Given the description of an element on the screen output the (x, y) to click on. 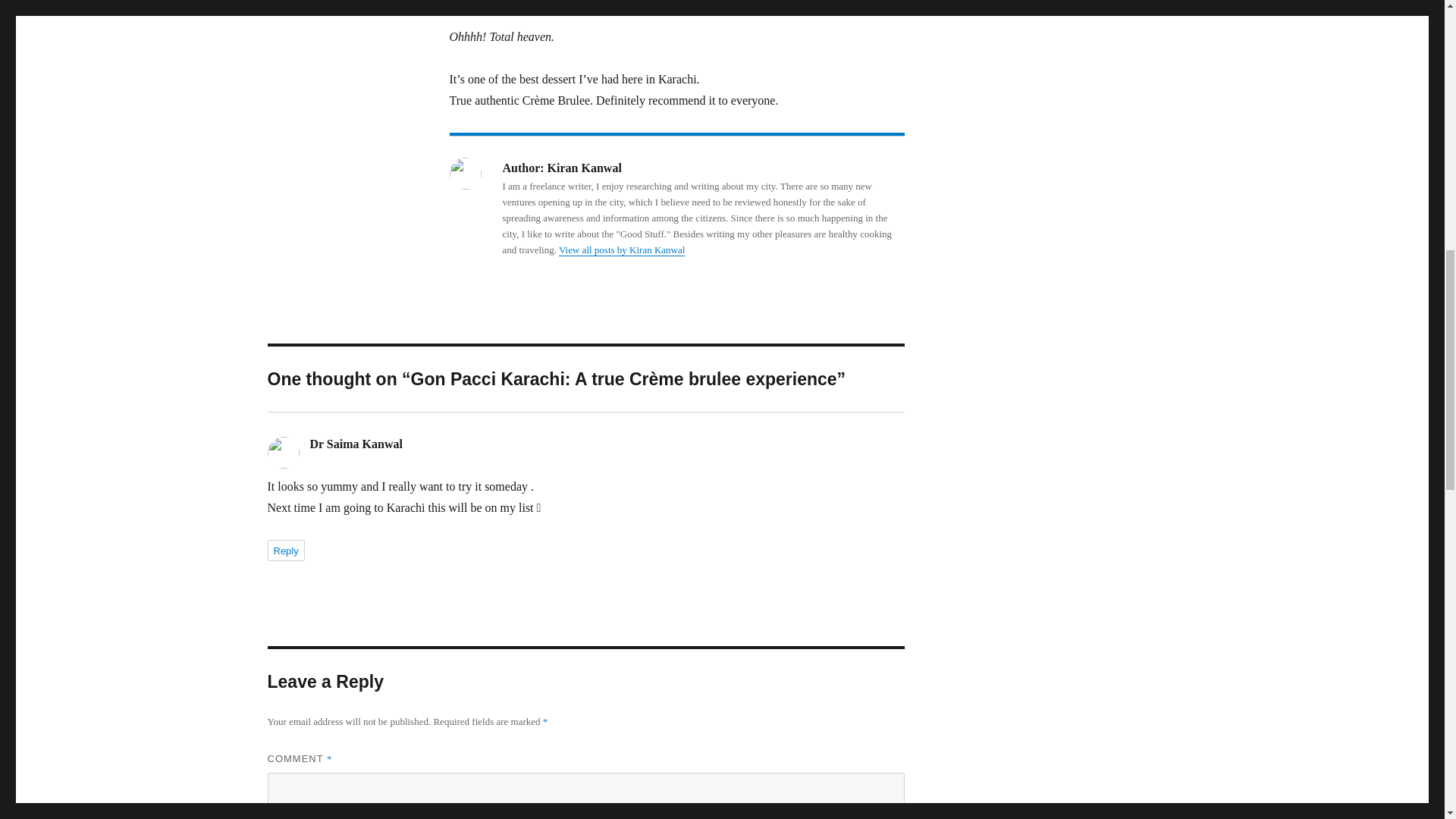
Reply (285, 550)
View all posts by Kiran Kanwal (621, 249)
